Given the description of an element on the screen output the (x, y) to click on. 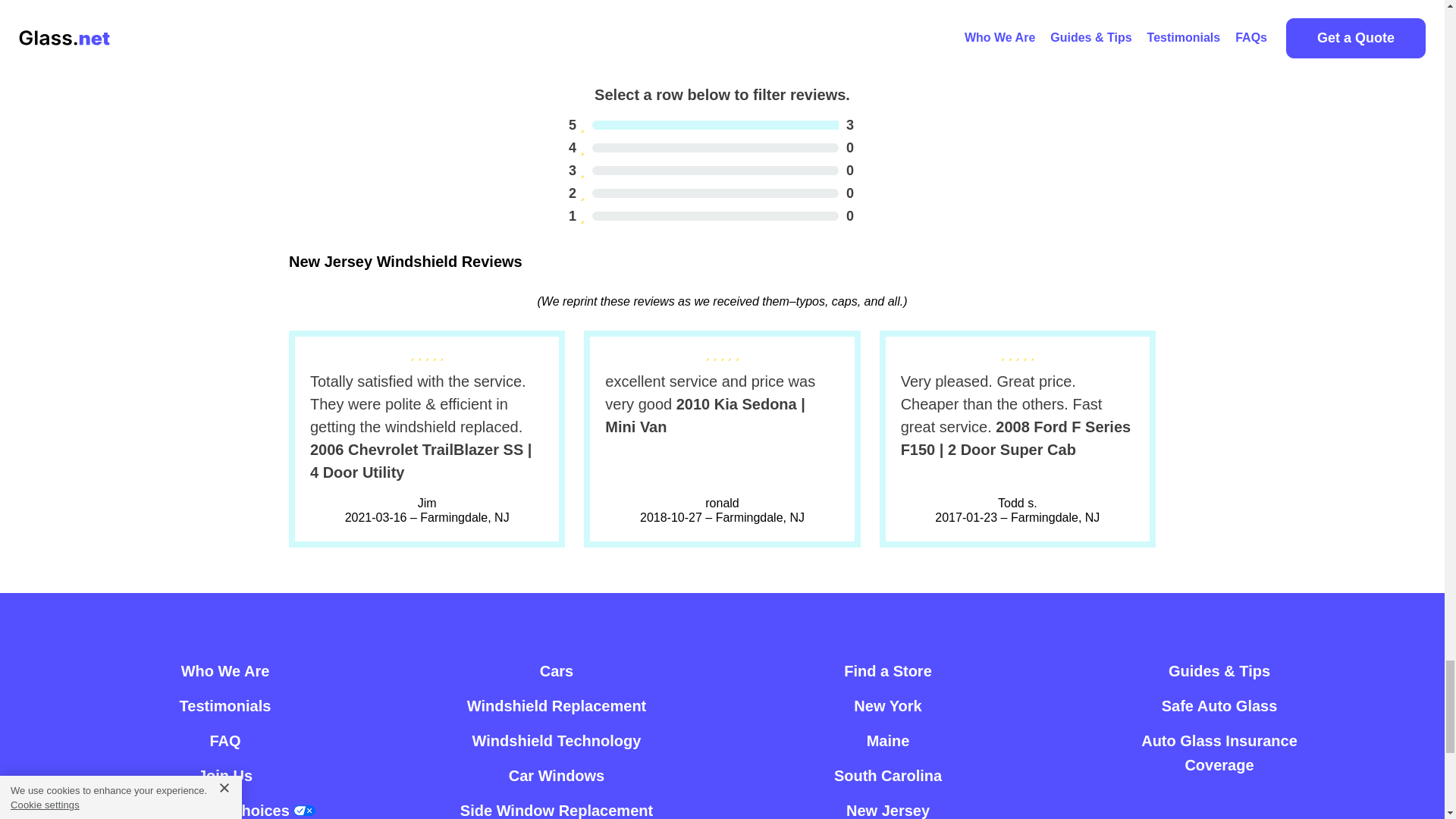
Mobile Glass Shops Join Glass.NET (224, 775)
Who We Are (224, 670)
Side Window Replacement (711, 170)
Windshield Replacement (556, 806)
Windshield Technology (556, 705)
Cars (711, 192)
Average windshield repair review (556, 740)
Repair or Replace Auto Glass By Car Make (556, 670)
 Local Windshield Replacement (653, 26)
FAQ (556, 670)
A Market Place for Car Glass (556, 705)
Your Privacy Choices (224, 740)
